Given the description of an element on the screen output the (x, y) to click on. 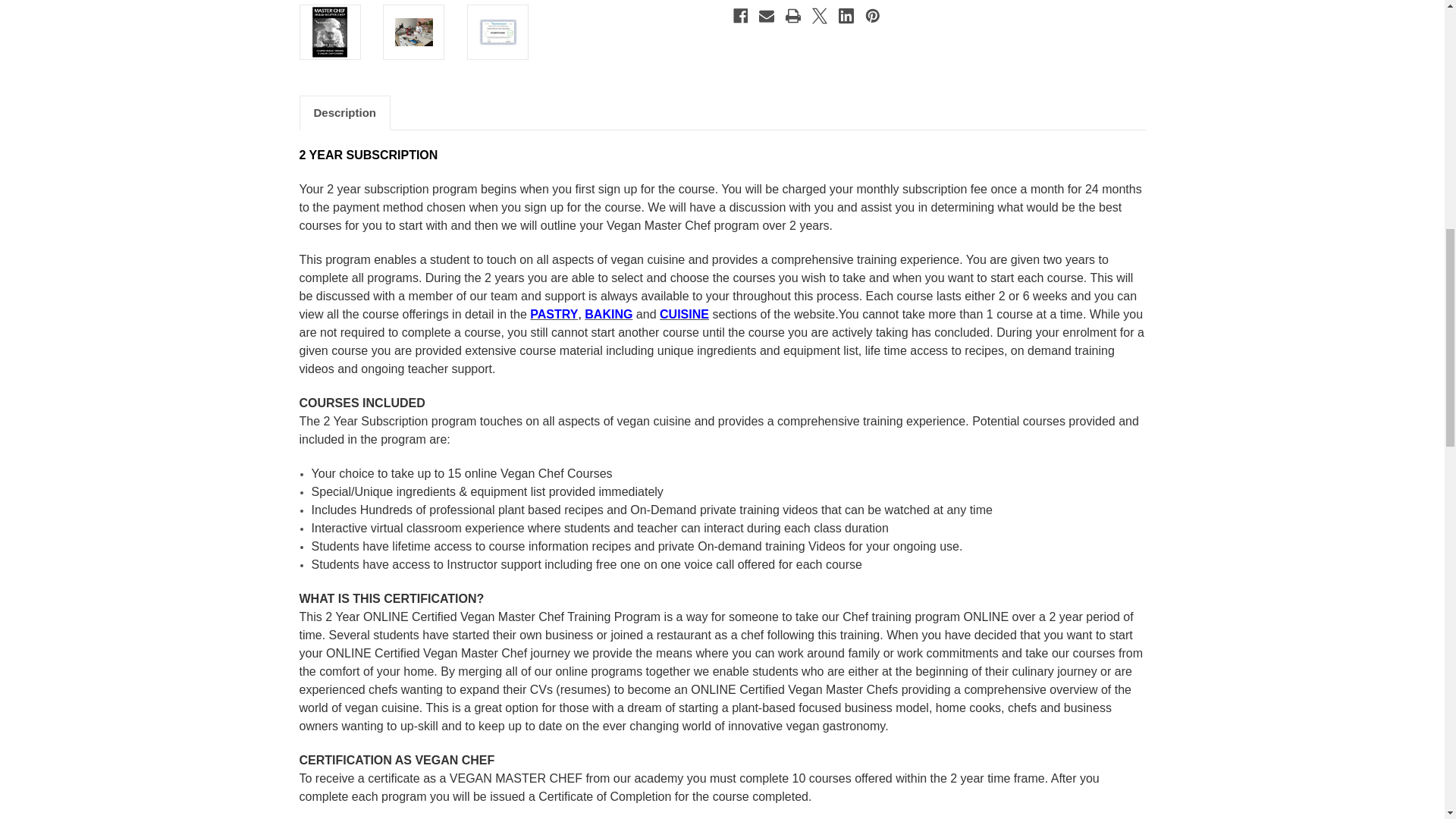
VEGAN MASTER CHEF SUBSCRIPTION (497, 31)
Facebook (740, 15)
VEGAN MASTER CHEF SUBSCRIPTION (330, 31)
X (819, 15)
VEGAN MASTER CHEF SUBSCRIPTION (413, 31)
Print (793, 15)
Pinterest (872, 15)
Linkedin (845, 15)
Email (766, 15)
